Given the description of an element on the screen output the (x, y) to click on. 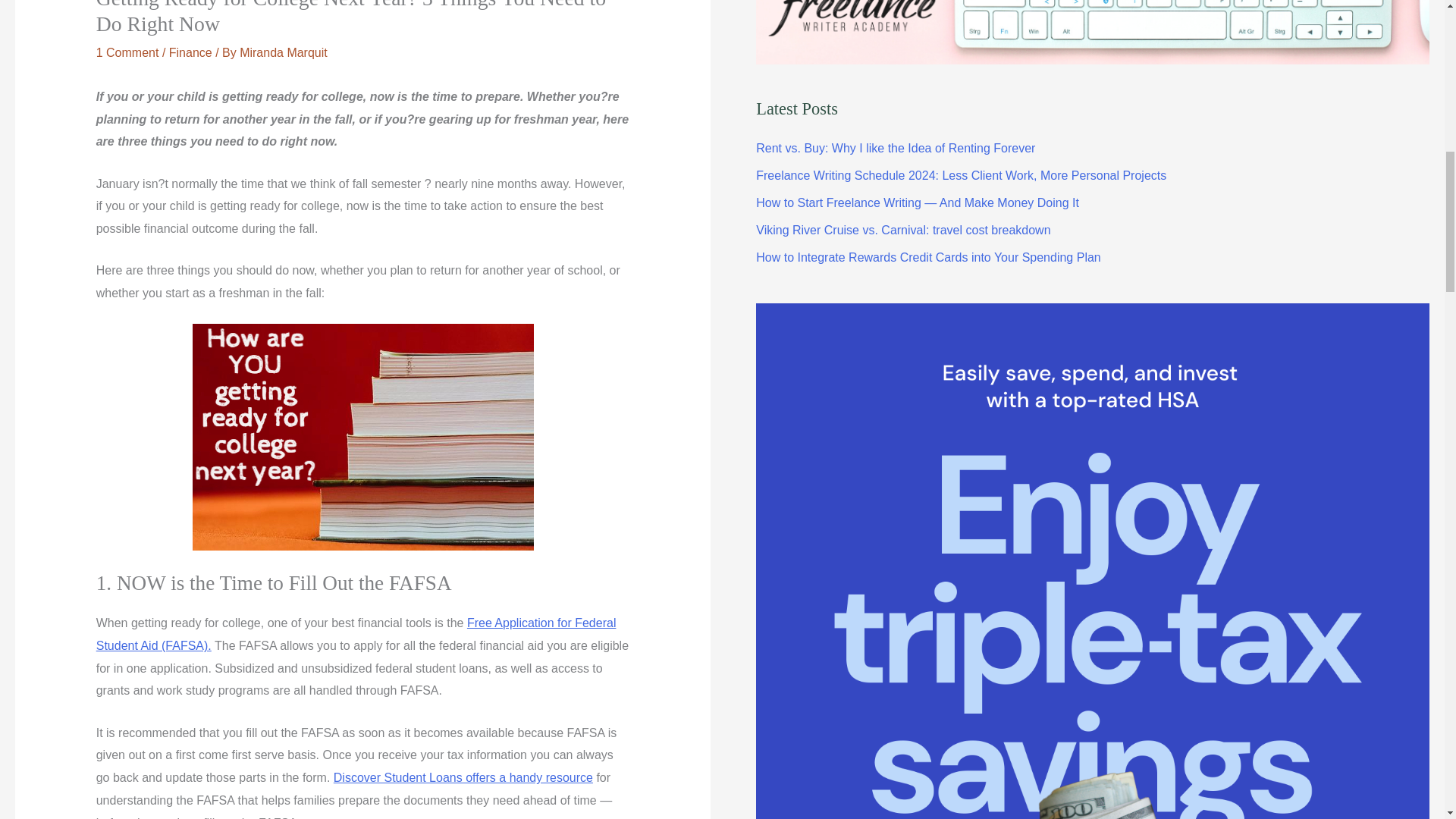
Discover Student Loans offers a handy resource (462, 777)
View all posts by Miranda Marquit (283, 51)
1 Comment (127, 51)
Miranda Marquit (283, 51)
Finance (190, 51)
